Given the description of an element on the screen output the (x, y) to click on. 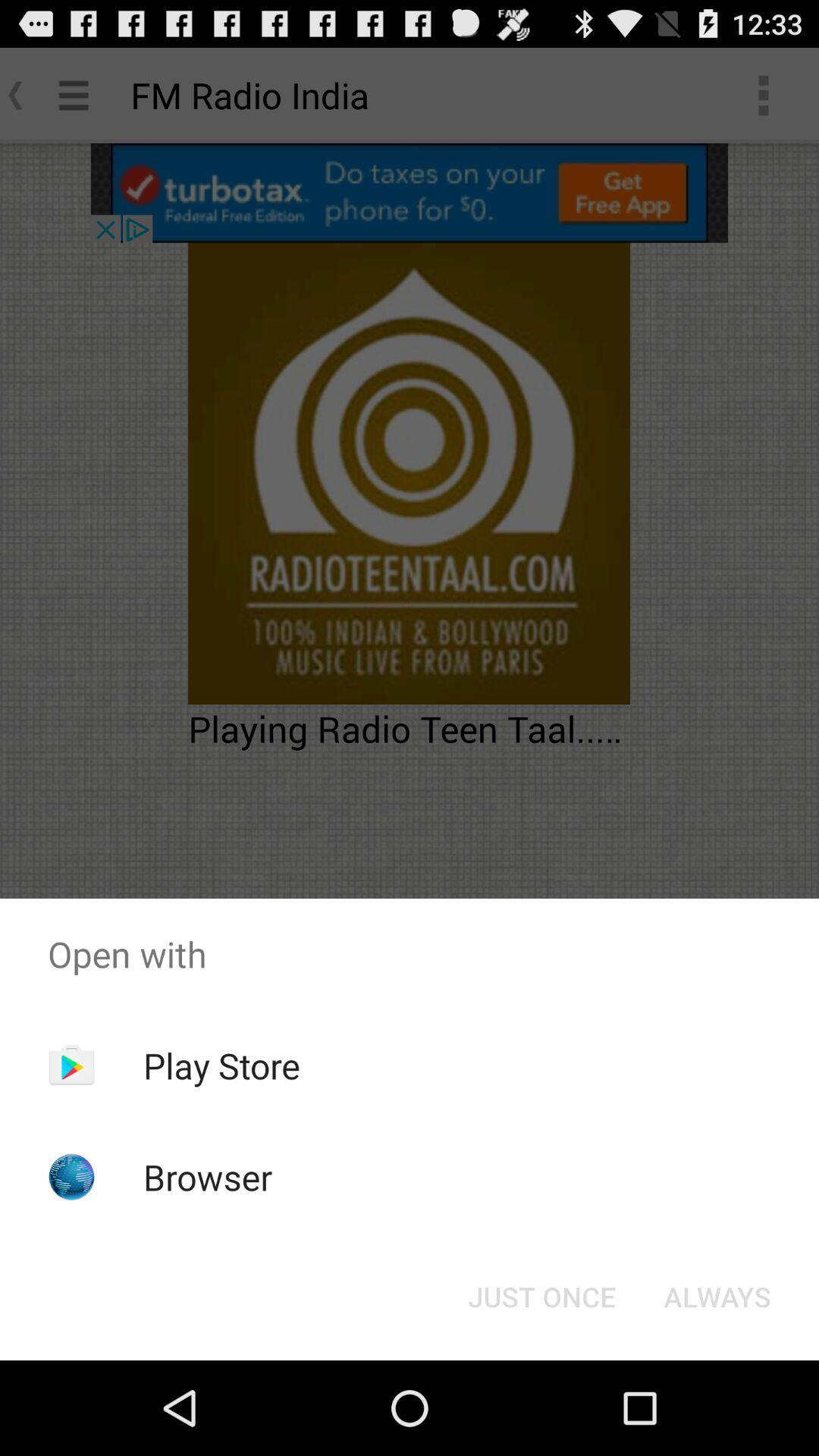
choose the item next to just once icon (717, 1296)
